Given the description of an element on the screen output the (x, y) to click on. 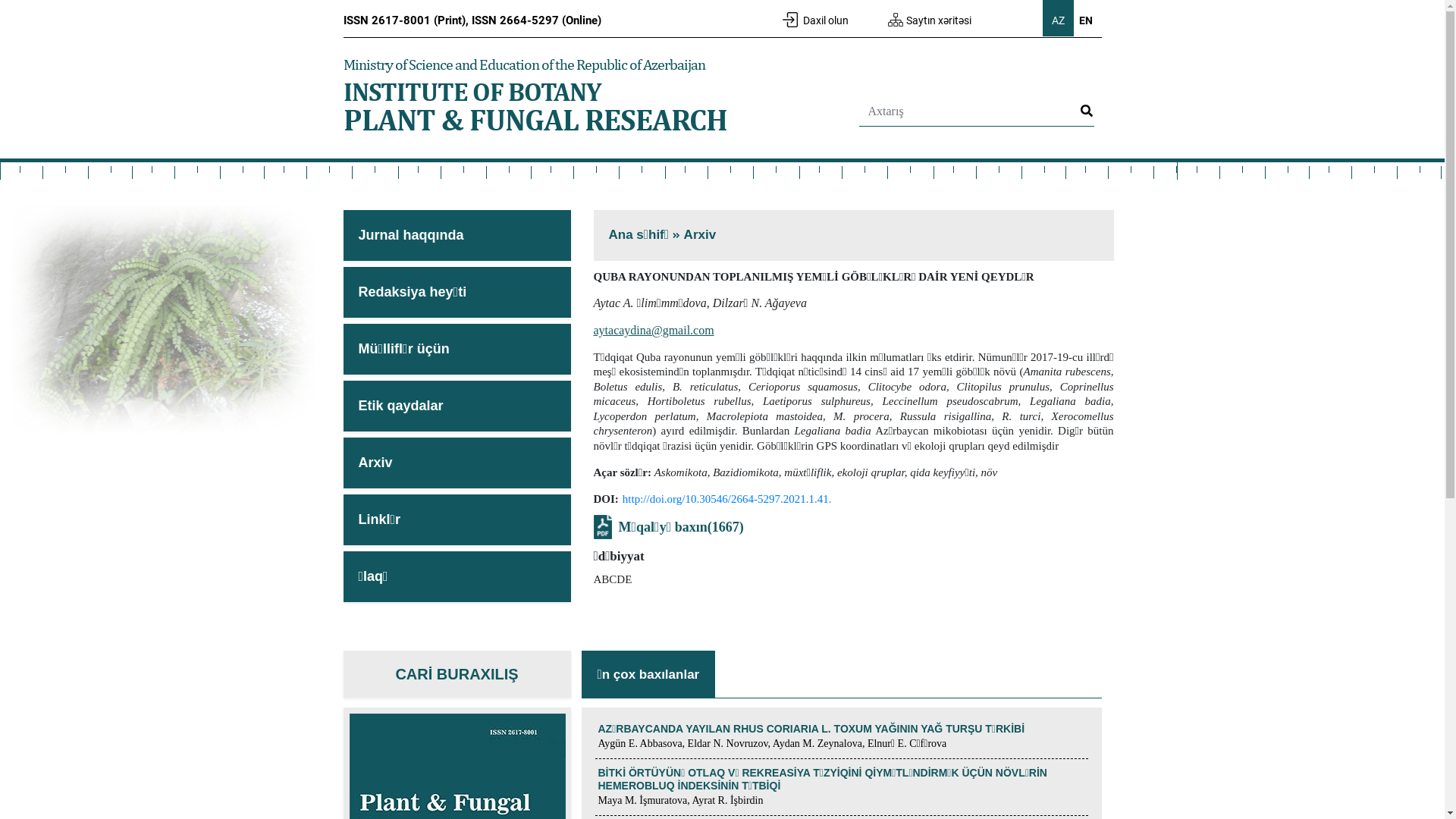
Arxiv Element type: text (700, 234)
aytacaydina@gmail.com Element type: text (653, 329)
Arxiv Element type: text (456, 462)
http://doi.org/10.30546/2664-5297.2021.1.41. Element type: text (726, 498)
Daxil olun Element type: text (815, 20)
Etik qaydalar Element type: text (456, 405)
